Given the description of an element on the screen output the (x, y) to click on. 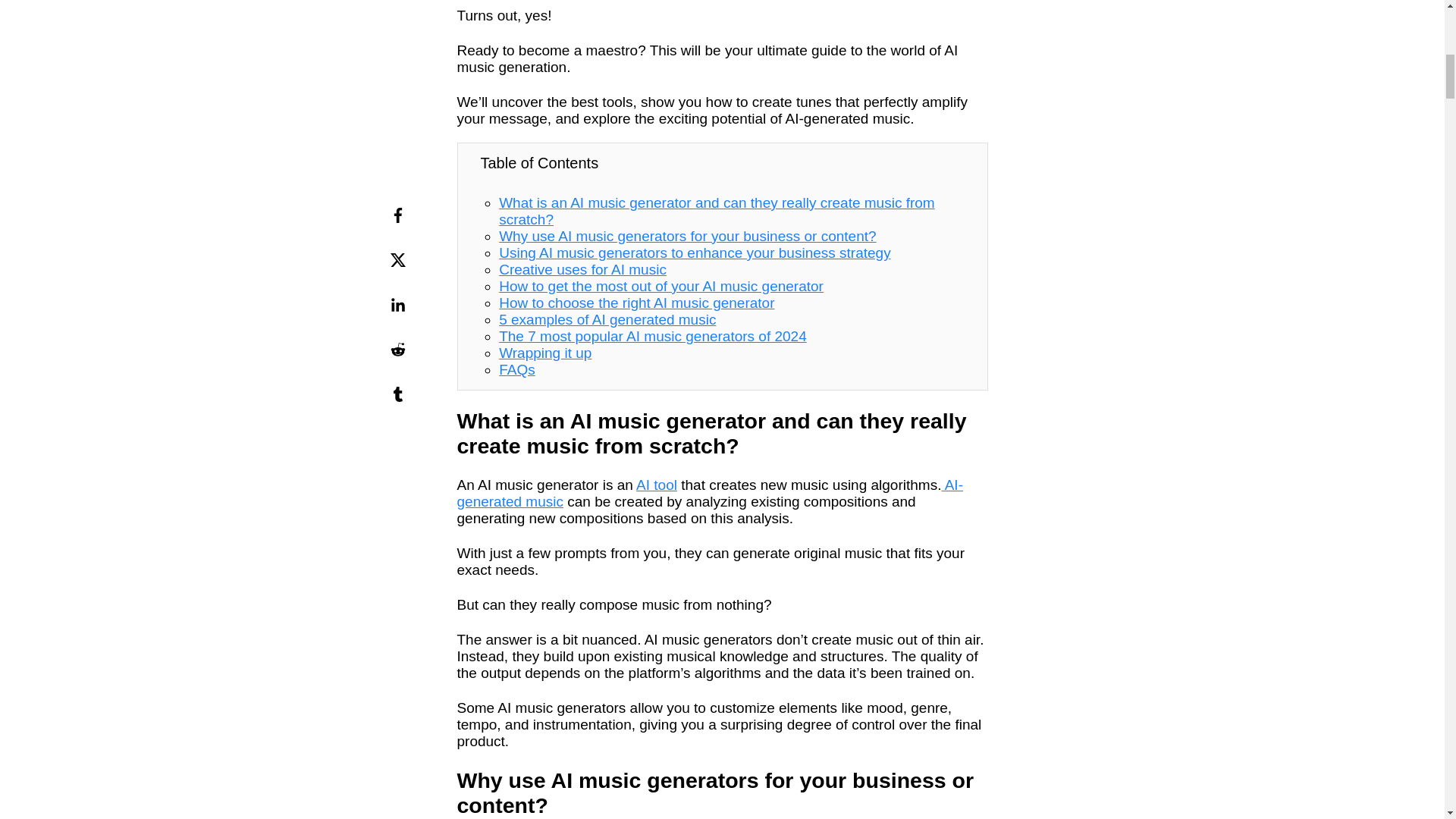
AI-generated music (709, 492)
AI tool (656, 484)
How to get the most out of your AI music generator (661, 286)
5 examples of AI generated music (607, 319)
How to choose the right AI music generator (636, 302)
Creative uses for AI music (582, 269)
The 7 most popular AI music generators of 2024 (652, 335)
Wrapping it up (545, 352)
Using AI music generators to enhance your business strategy (694, 252)
FAQs (517, 369)
Why use AI music generators for your business or content? (687, 236)
